Given the description of an element on the screen output the (x, y) to click on. 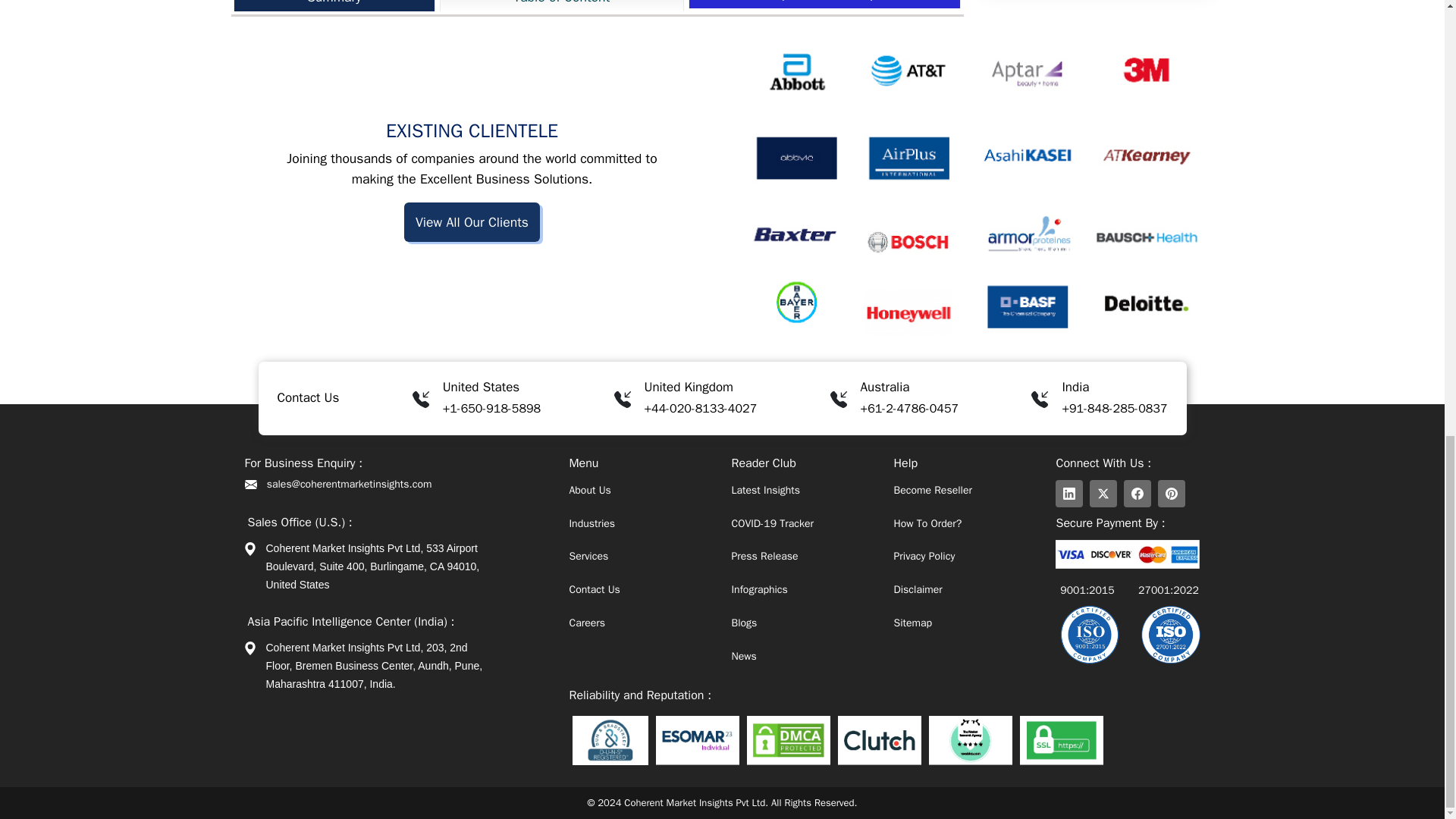
Call Us (491, 408)
Polymers Market Companies (313, 6)
